Given the description of an element on the screen output the (x, y) to click on. 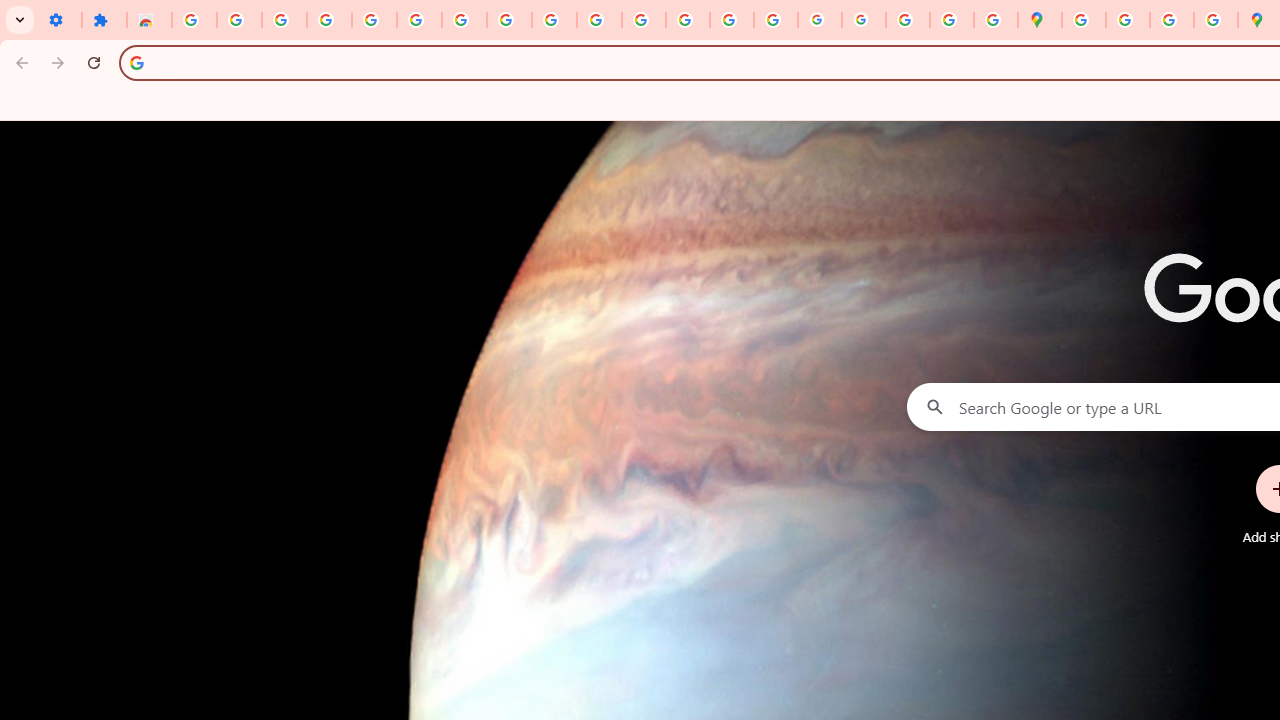
Google Maps (1039, 20)
Settings - On startup (59, 20)
